Given the description of an element on the screen output the (x, y) to click on. 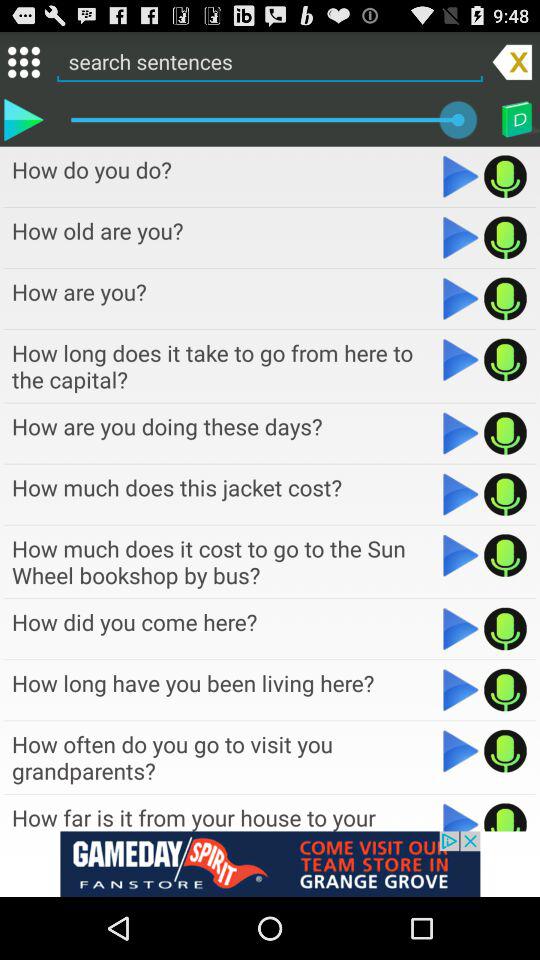
click arrow button (460, 298)
